Given the description of an element on the screen output the (x, y) to click on. 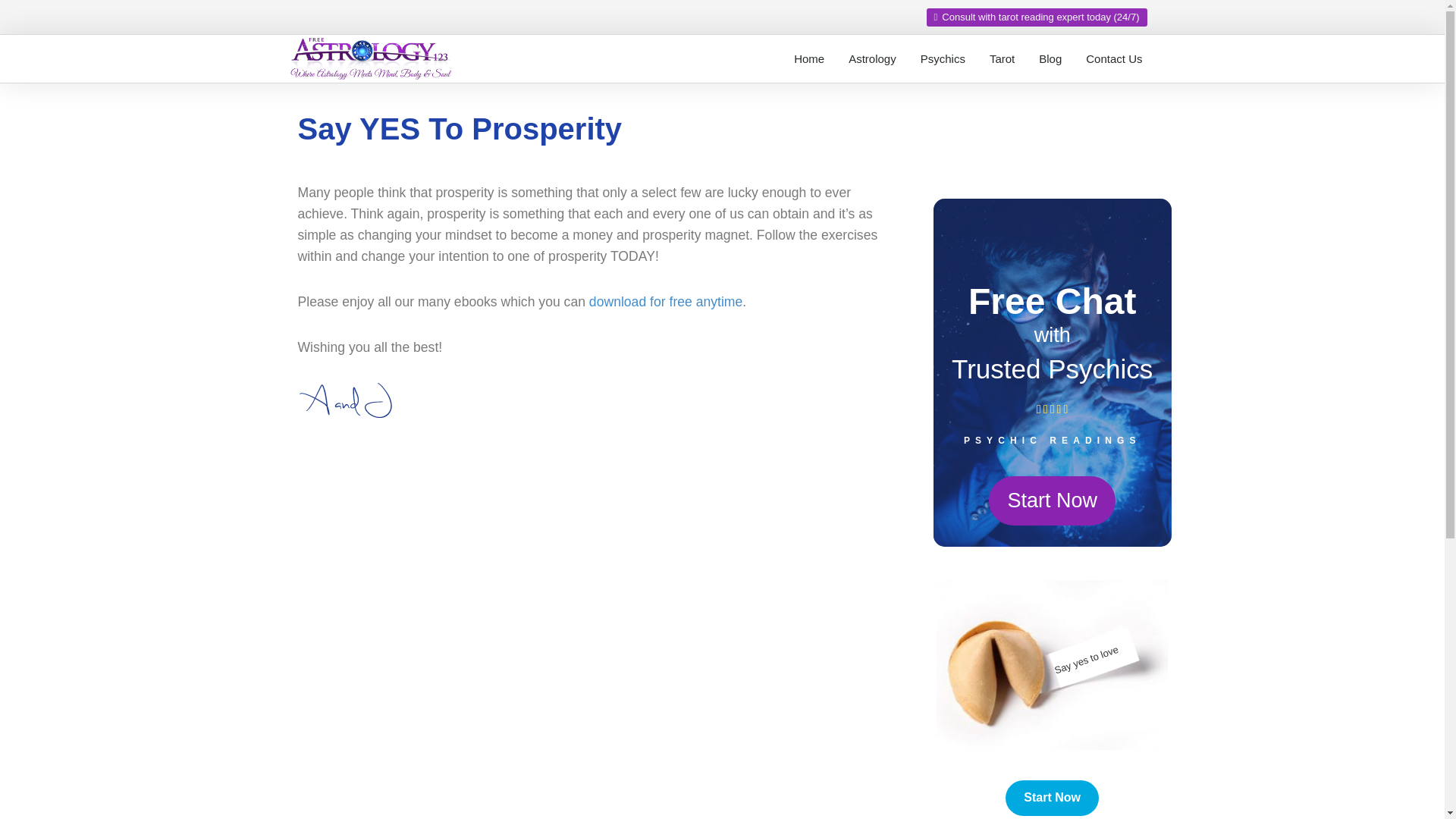
Free eBooks by FreeAstrology123 (665, 301)
Home (808, 58)
Psychics (942, 58)
Contact Us (1114, 58)
Astrology (871, 58)
Start Now (1052, 797)
Tarot (1001, 58)
Blog (1050, 58)
